Given the description of an element on the screen output the (x, y) to click on. 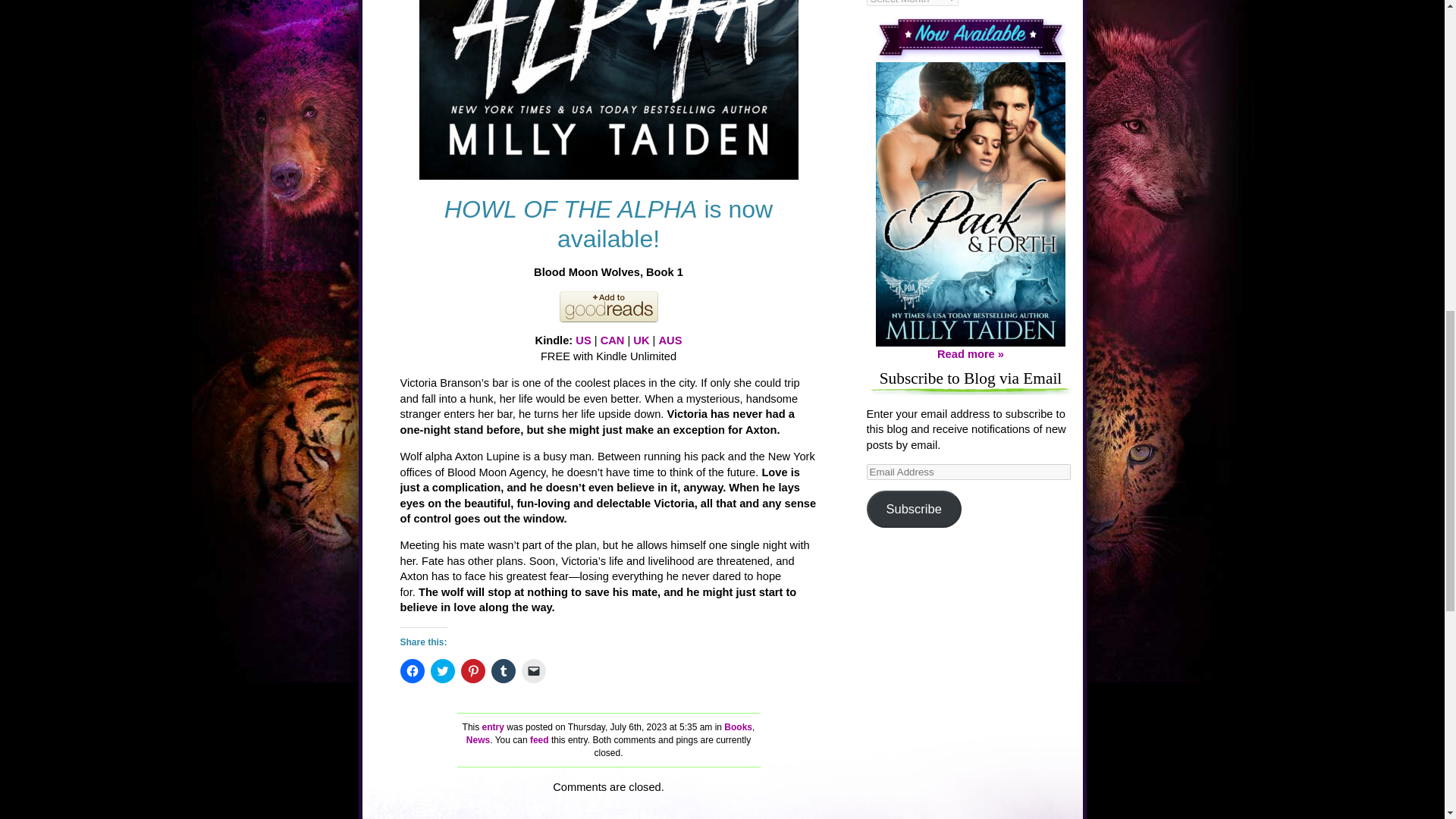
feed (538, 739)
News (477, 739)
CAN (611, 340)
US (583, 340)
AUS (669, 340)
Books (737, 726)
entry (492, 726)
UK (641, 340)
